Given the description of an element on the screen output the (x, y) to click on. 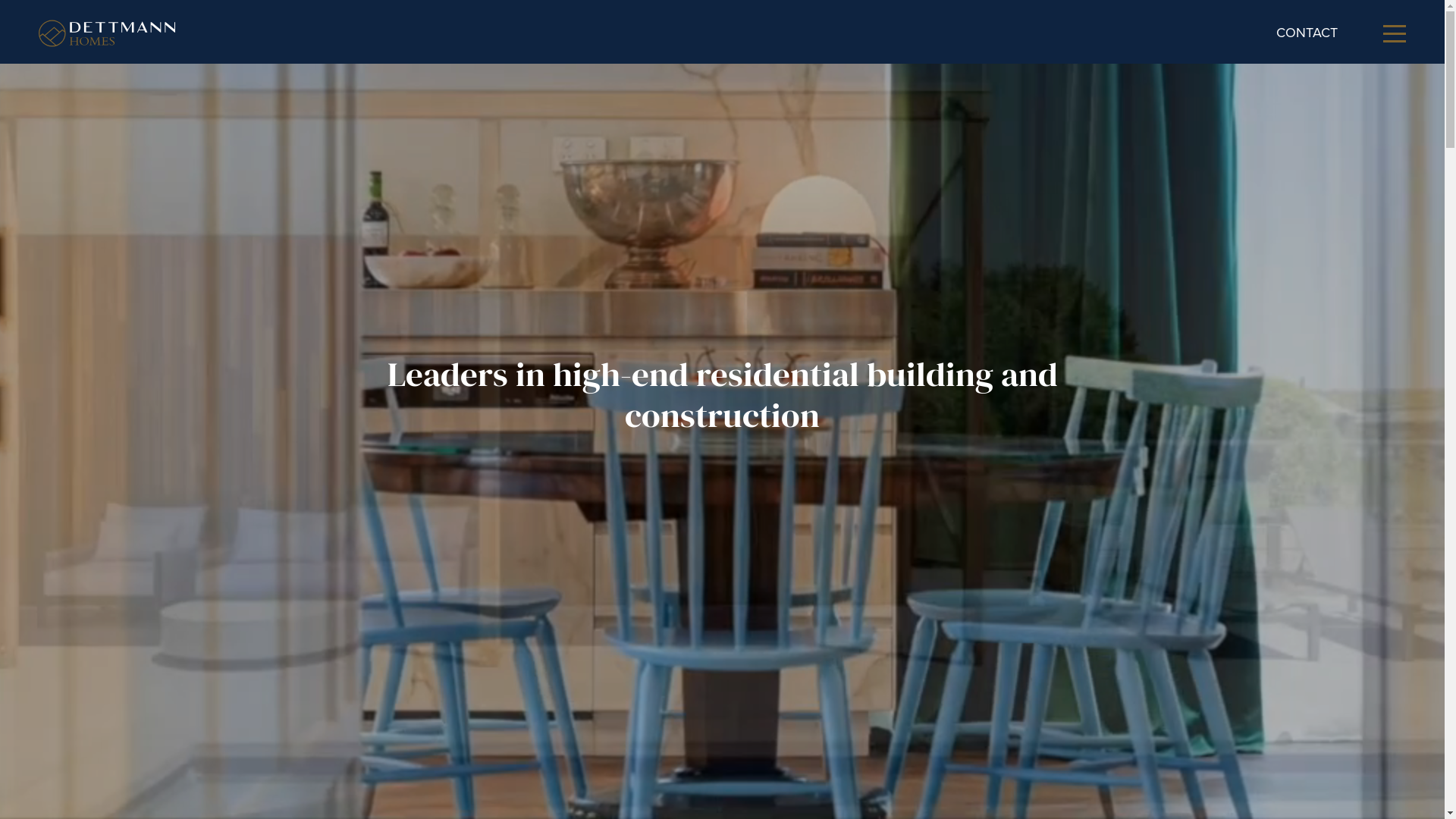
CONTACT Element type: text (1306, 32)
